Given the description of an element on the screen output the (x, y) to click on. 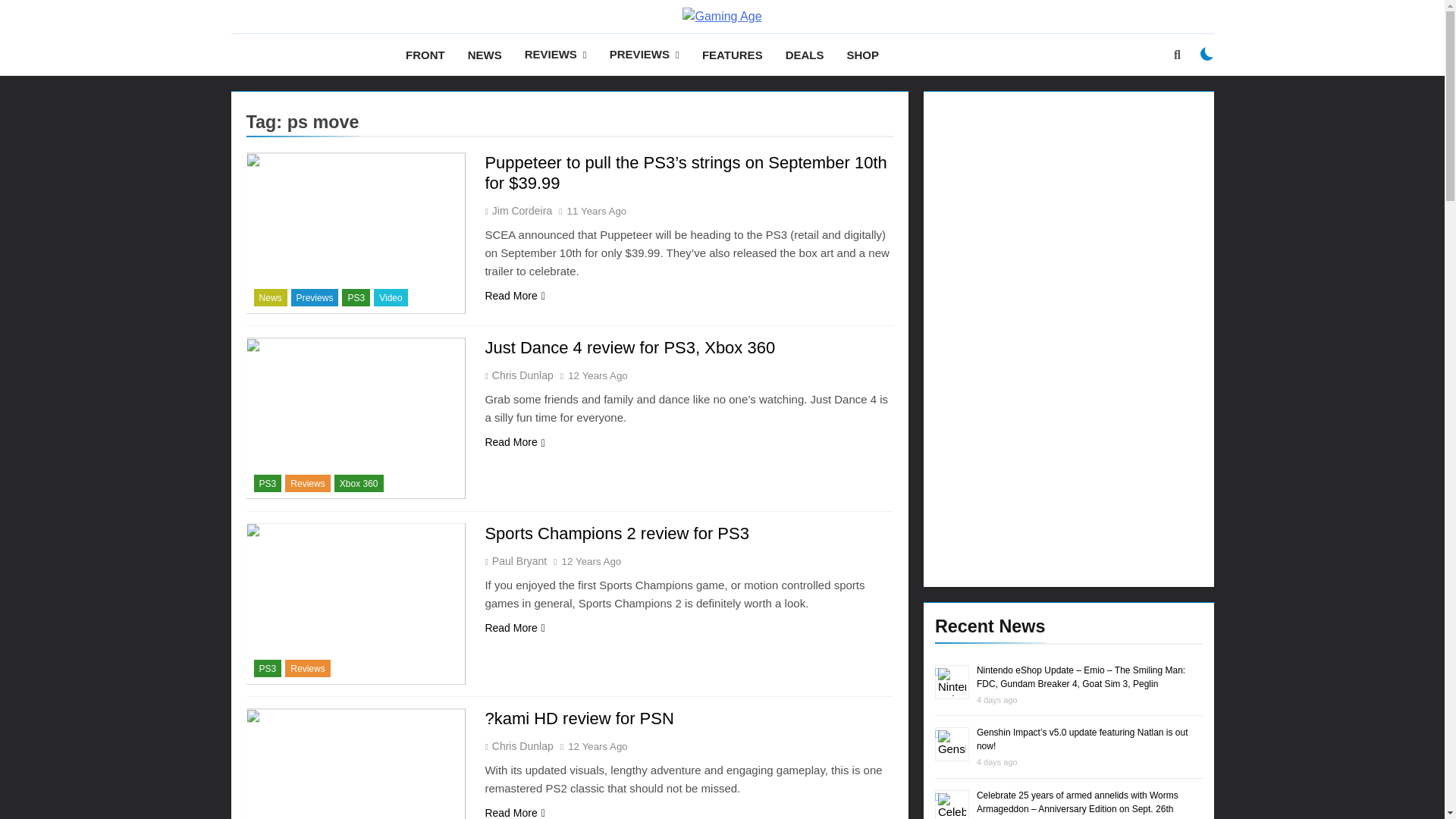
PREVIEWS (644, 55)
DEALS (804, 55)
on (1206, 53)
NEWS (485, 55)
Just Dance 4 review for PS3, Xbox 360 (629, 347)
News (269, 297)
Just Dance 4 review for PS3, Xbox 360 (355, 417)
?kami HD review for PSN (355, 763)
Gaming Age (571, 42)
?kami HD review for PSN (578, 718)
